Given the description of an element on the screen output the (x, y) to click on. 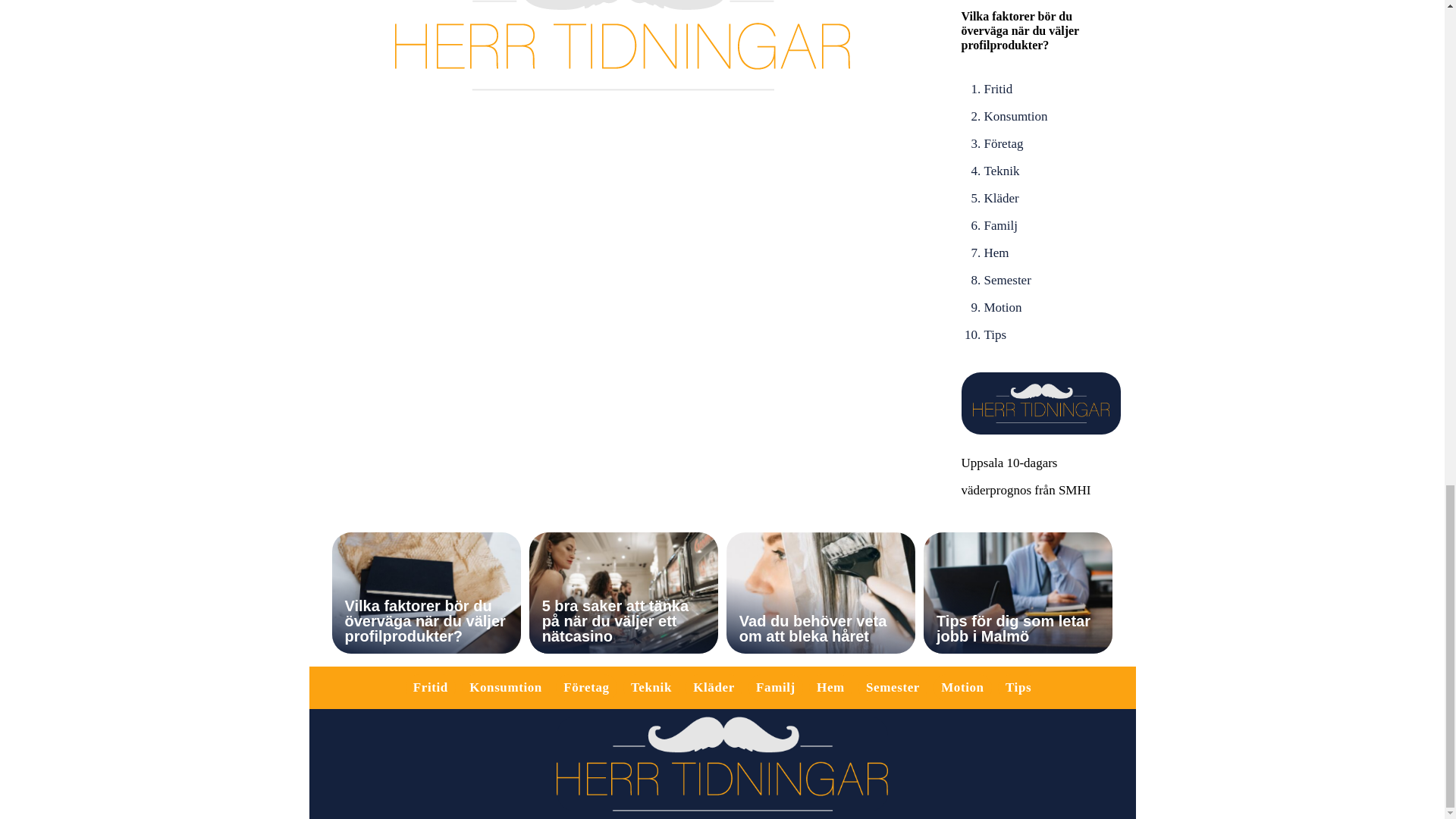
Konsumtion (504, 687)
Fritid (998, 88)
Semester (1007, 279)
Tips (995, 334)
Fritid (430, 687)
Motion (1003, 307)
Hem (996, 252)
Konsumtion (1016, 115)
Teknik (1002, 170)
Familj (1000, 225)
